Given the description of an element on the screen output the (x, y) to click on. 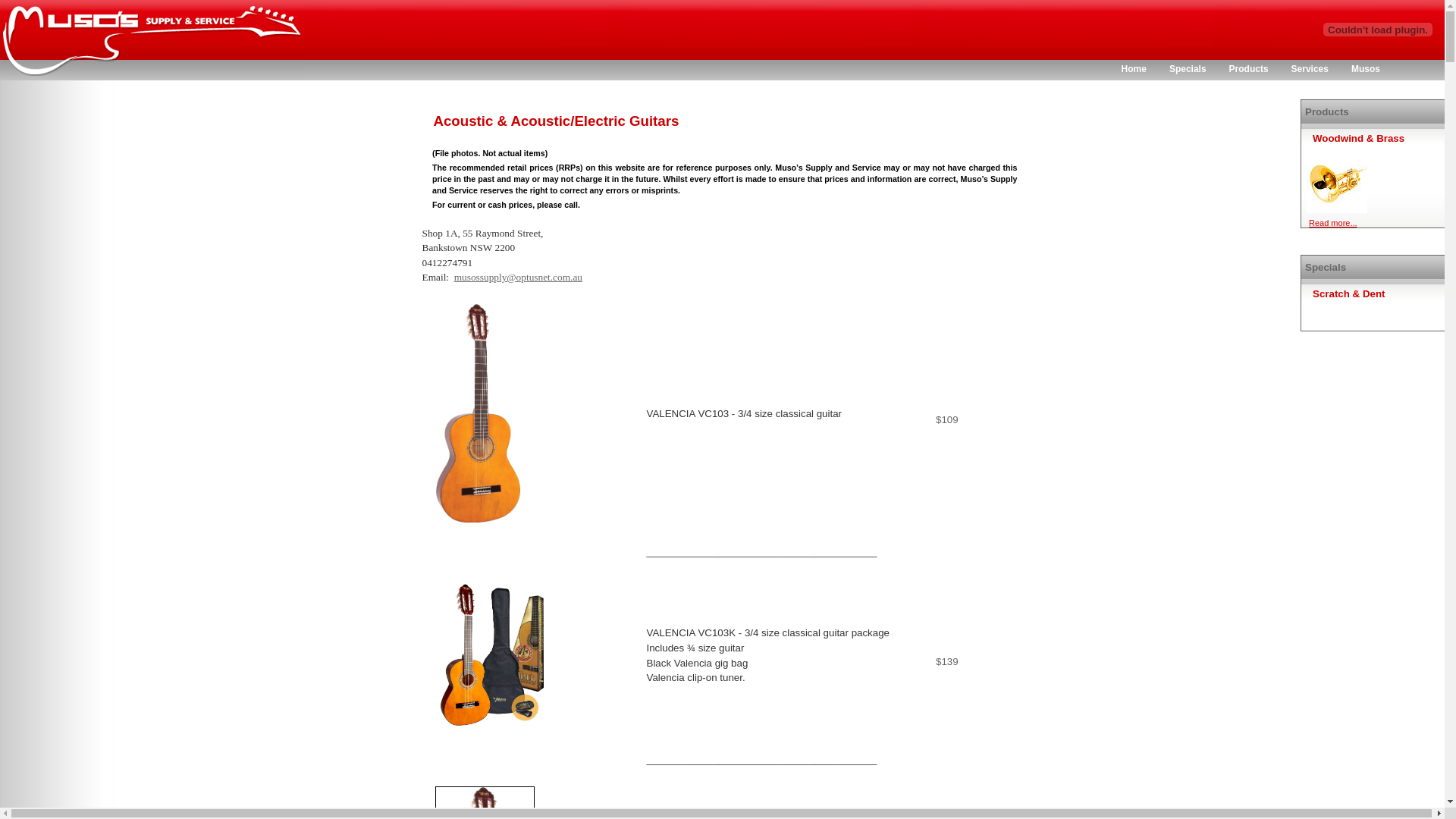
Specials Element type: text (1187, 68)
Home Element type: text (1133, 68)
Musos Element type: text (1365, 68)
Products Element type: text (1248, 68)
Read more... Element type: text (1333, 223)
brass Element type: hover (1336, 182)
musossupply@optusnet.com.au Element type: text (518, 276)
Services Element type: text (1309, 68)
